Given the description of an element on the screen output the (x, y) to click on. 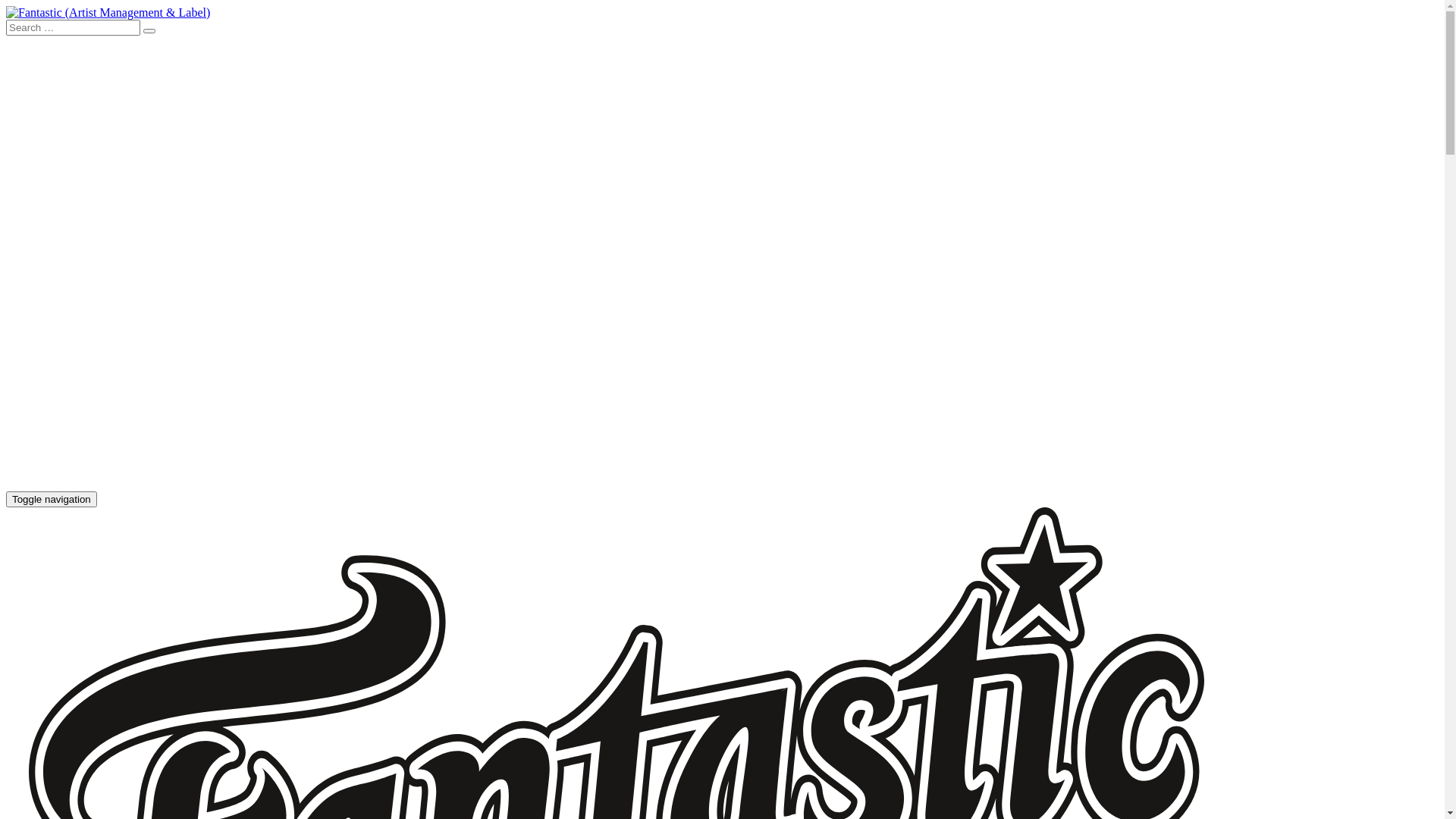
Toggle navigation Element type: text (51, 499)
